Given the description of an element on the screen output the (x, y) to click on. 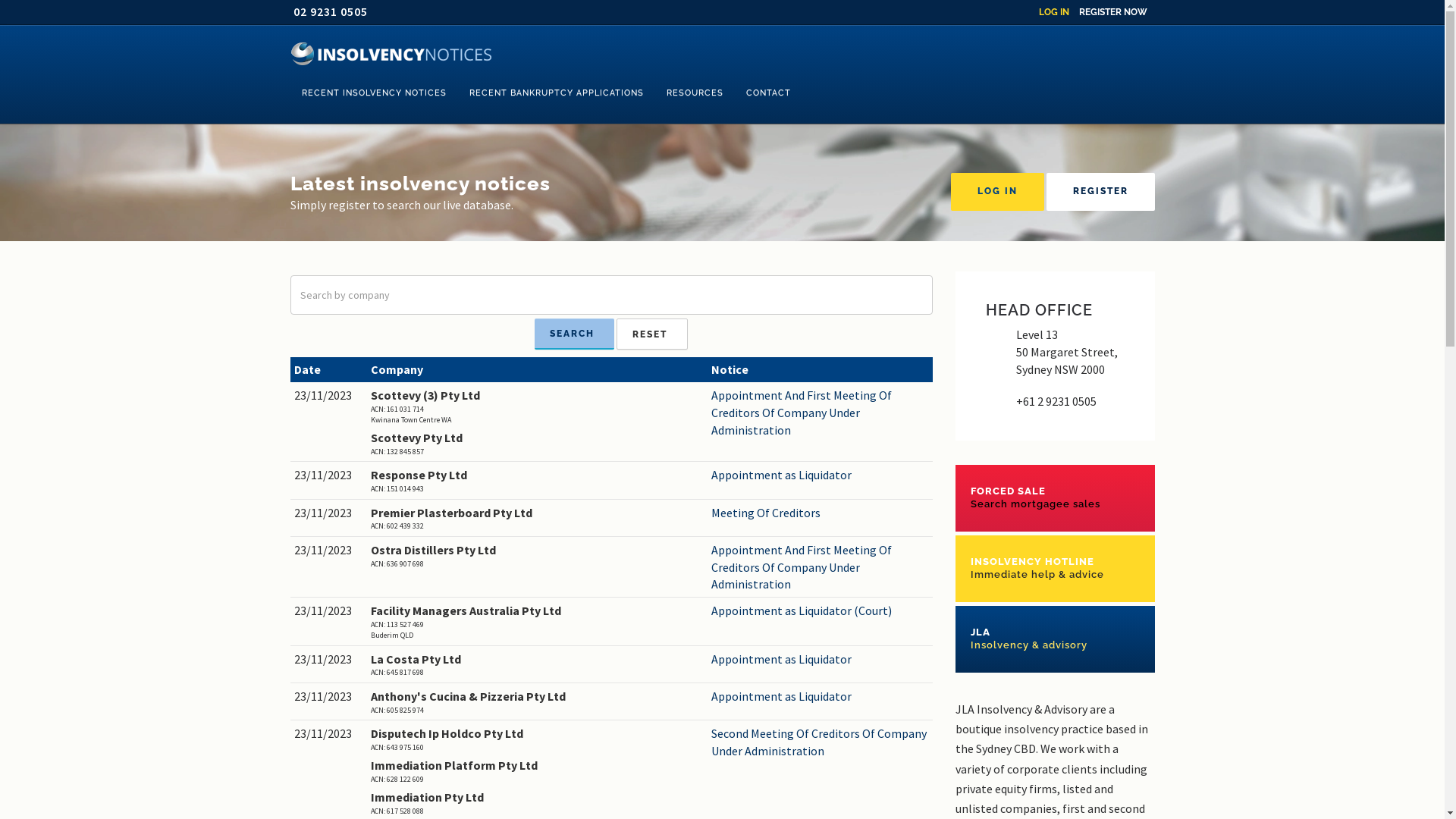
23/11/2023 Element type: text (329, 549)
23/11/2023 Element type: text (329, 512)
Search Element type: text (574, 333)
INSOLVENCY HOTLINE  
Immediate help & advice Element type: text (1054, 568)
REGISTER NOW Element type: text (1112, 11)
23/11/2023 Element type: text (329, 610)
RECENT INSOLVENCY NOTICES Element type: text (373, 92)
LOG IN Element type: text (997, 191)
JLA  
Insolvency & advisory Element type: text (1054, 638)
23/11/2023 Element type: text (329, 474)
Appointment as Liquidator Element type: text (819, 474)
23/11/2023 Element type: text (329, 696)
CONTACT Element type: text (767, 92)
Ostra Distillers Pty Ltd
ACN: 636 907 698 Element type: text (536, 555)
RESOURCES Element type: text (694, 92)
FORCED SALE  
Search mortgagee sales Element type: text (1054, 497)
Appointment as Liquidator Element type: text (819, 696)
Premier Plasterboard Pty Ltd
ACN: 602 439 332 Element type: text (536, 518)
REGISTER Element type: text (1100, 191)
Appointment as Liquidator (Court) Element type: text (819, 610)
Anthony's Cucina & Pizzeria Pty Ltd
ACN: 605 825 974 Element type: text (536, 701)
23/11/2023 Element type: text (329, 733)
Meeting Of Creditors Element type: text (819, 512)
La Costa Pty Ltd
ACN: 645 817 698 Element type: text (536, 664)
RECENT BANKRUPTCY APPLICATIONS Element type: text (556, 92)
LOG IN Element type: text (1053, 11)
Appointment as Liquidator Element type: text (819, 659)
23/11/2023 Element type: text (329, 395)
Response Pty Ltd
ACN: 151 014 943 Element type: text (536, 480)
23/11/2023 Element type: text (329, 659)
Second Meeting Of Creditors Of Company Under Administration Element type: text (819, 741)
